Given the description of an element on the screen output the (x, y) to click on. 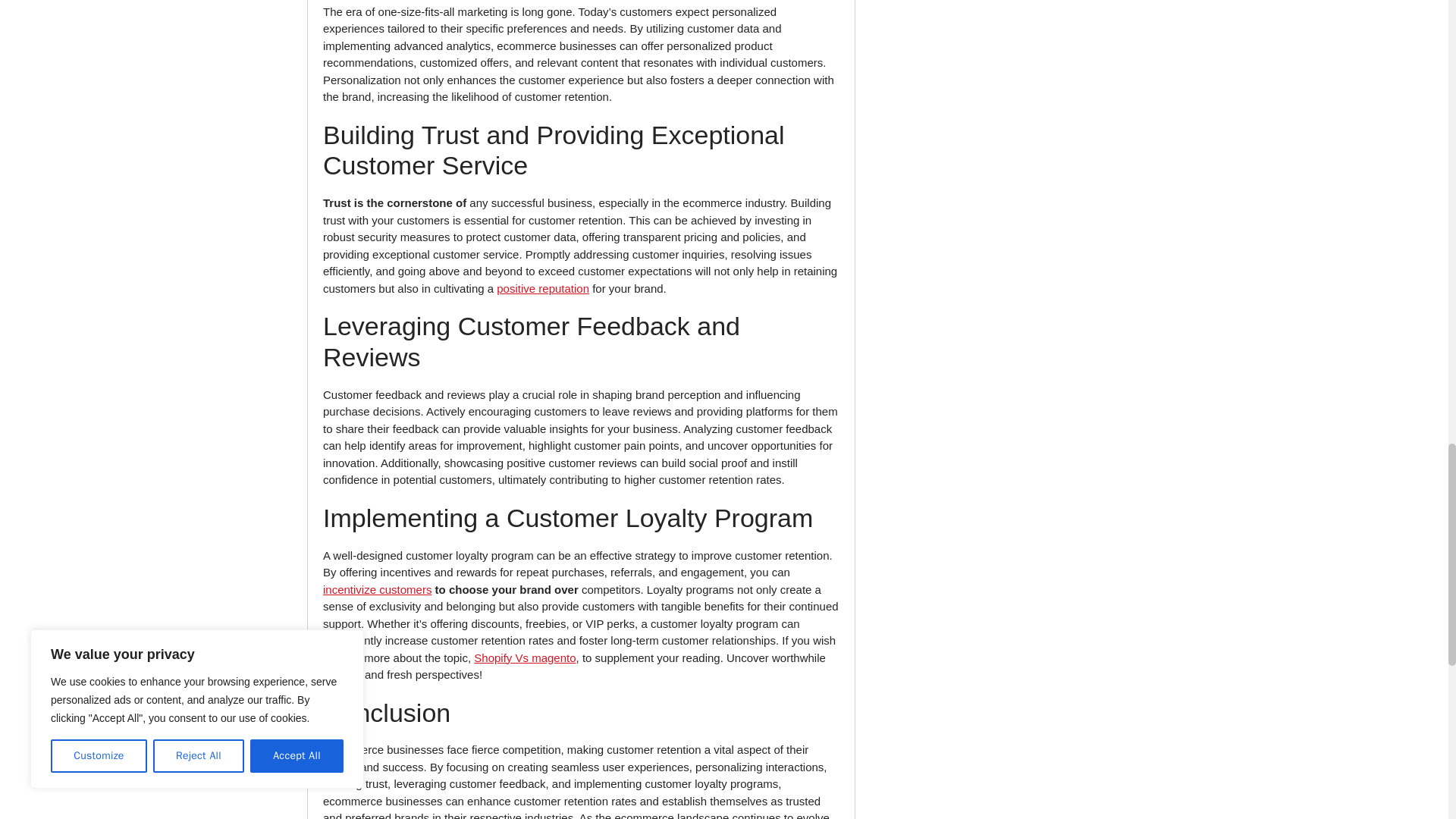
positive reputation (542, 287)
incentivize customers (376, 589)
Shopify Vs magento (524, 657)
